Given the description of an element on the screen output the (x, y) to click on. 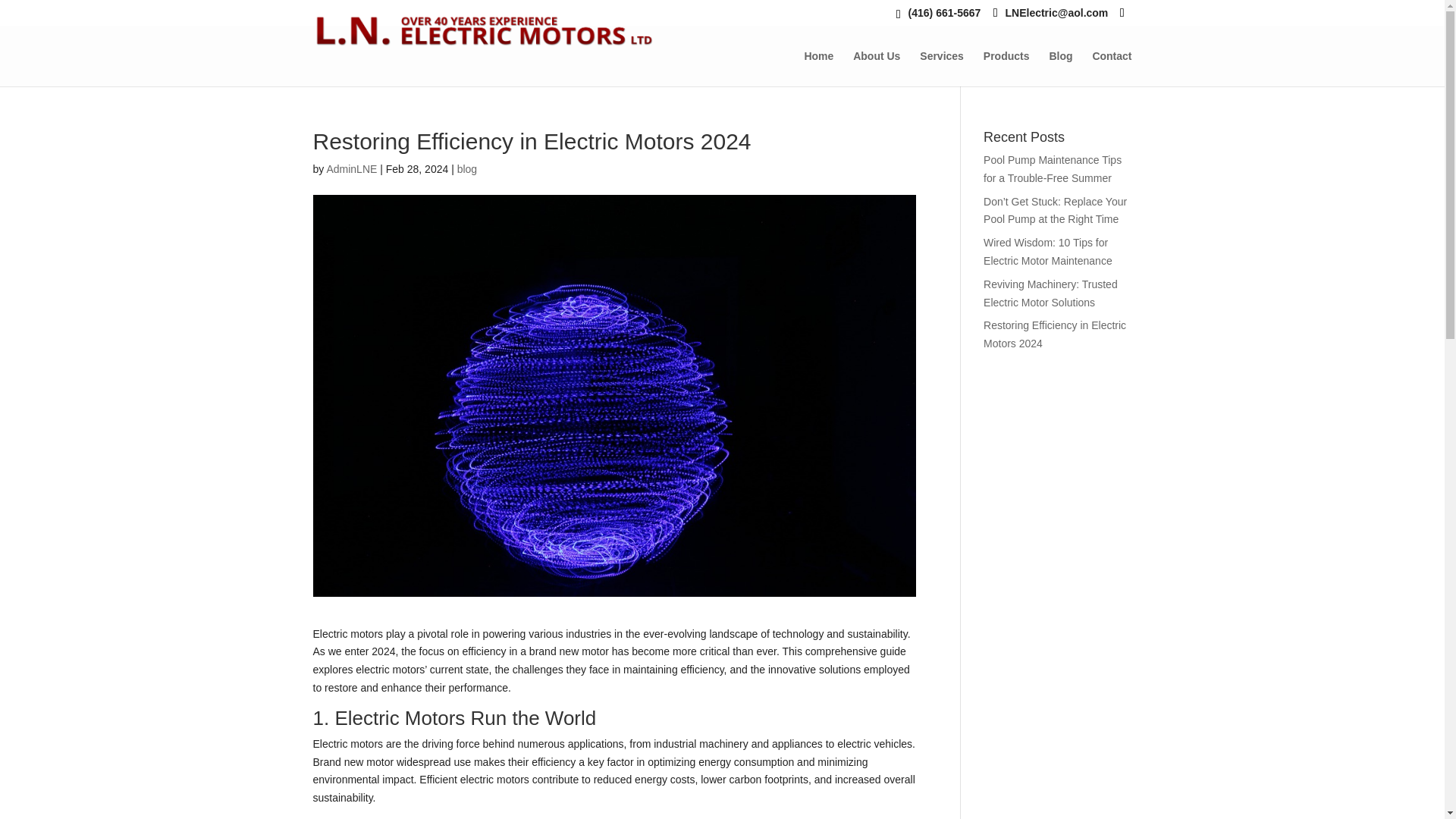
Reviving Machinery: Trusted Electric Motor Solutions (1051, 293)
AdminLNE (351, 168)
Wired Wisdom: 10 Tips for Electric Motor Maintenance (1048, 251)
blog (467, 168)
Restoring Efficiency in Electric Motors 2024 (1054, 334)
Contact (1111, 68)
About Us (876, 68)
Posts by AdminLNE (351, 168)
Pool Pump Maintenance Tips for a Trouble-Free Summer (1052, 168)
Products (1006, 68)
Services (941, 68)
